Given the description of an element on the screen output the (x, y) to click on. 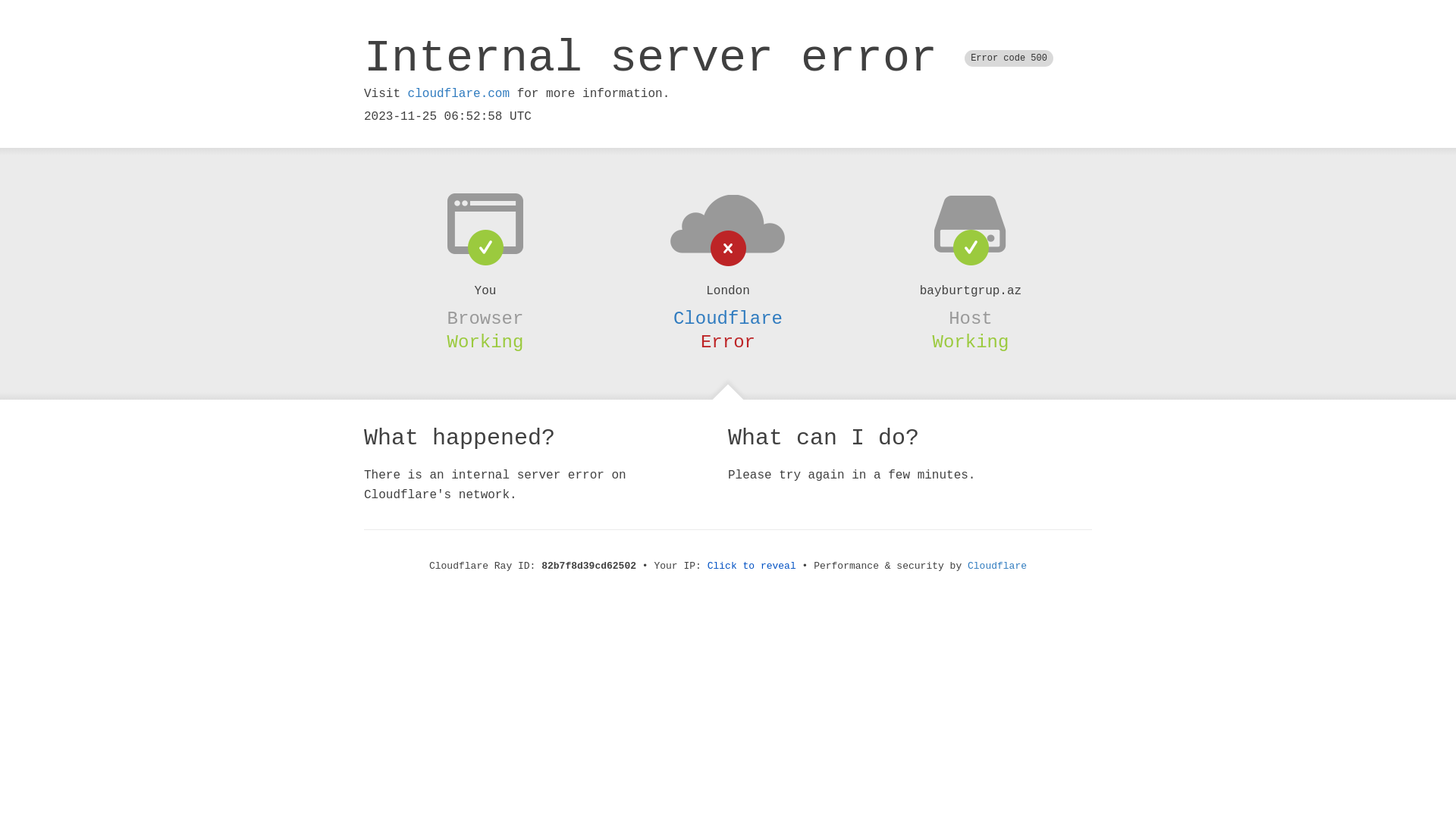
cloudflare.com Element type: text (458, 93)
Click to reveal Element type: text (751, 565)
Cloudflare Element type: text (727, 318)
Cloudflare Element type: text (996, 565)
